Given the description of an element on the screen output the (x, y) to click on. 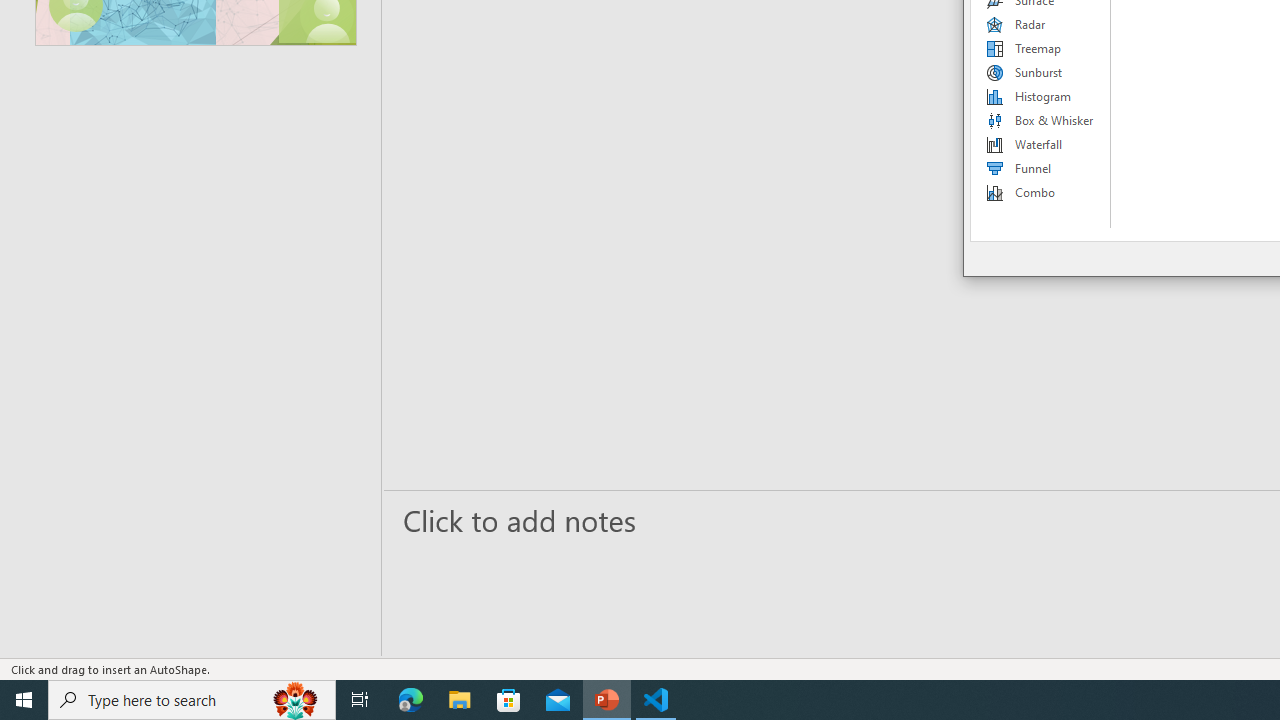
Microsoft Edge (411, 699)
Box & Whisker (1041, 120)
